Given the description of an element on the screen output the (x, y) to click on. 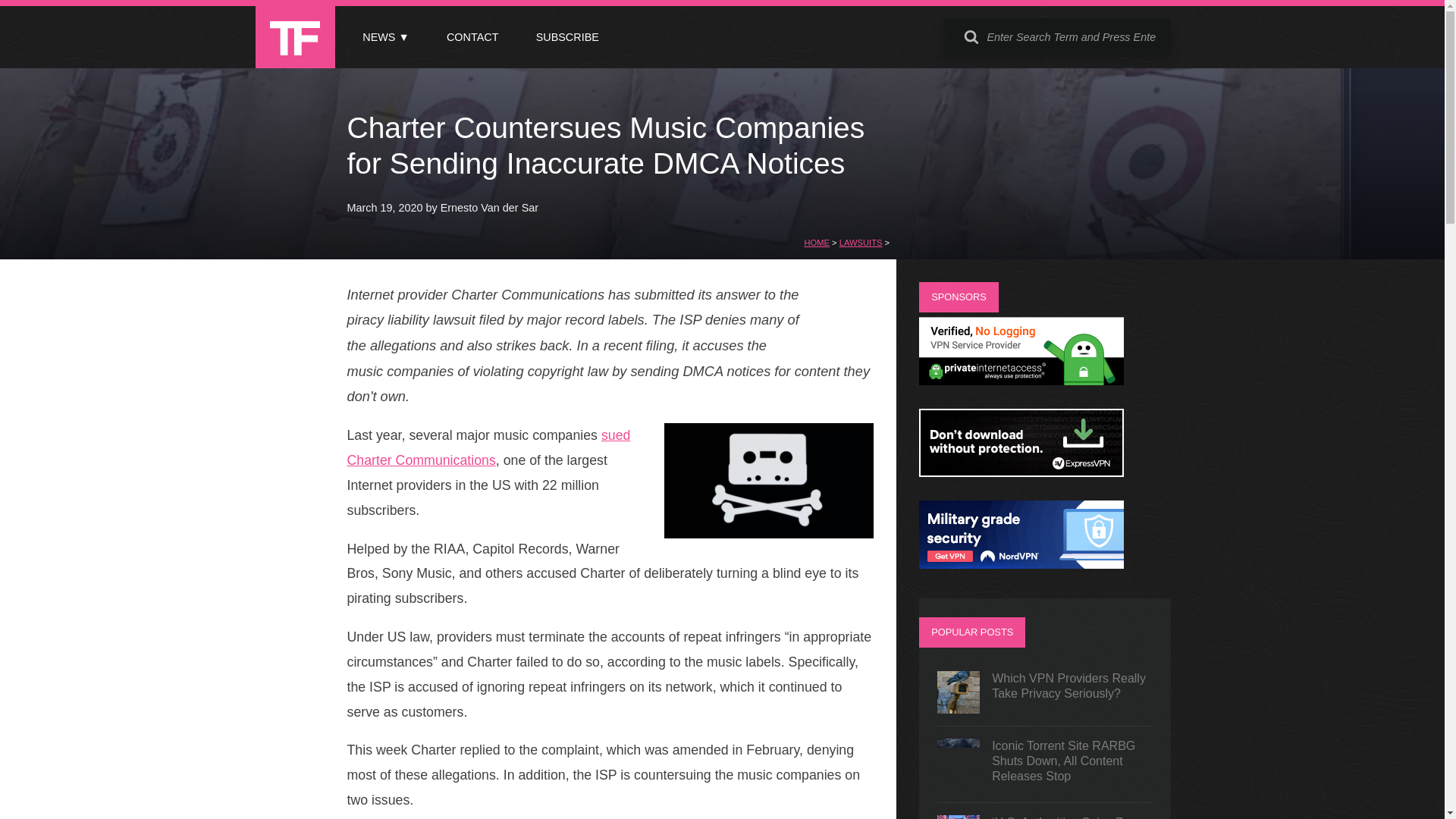
Which VPN Providers Really Take Privacy Seriously? (1045, 691)
LAWSUITS (861, 242)
sued Charter Communications (488, 447)
HOME (816, 242)
Ernesto Van der Sar (489, 207)
Go to the Lawsuits category archives. (861, 242)
Go to TorrentFreak. (816, 242)
ExpressVPN (1021, 472)
Private Internet Access (1021, 380)
